Given the description of an element on the screen output the (x, y) to click on. 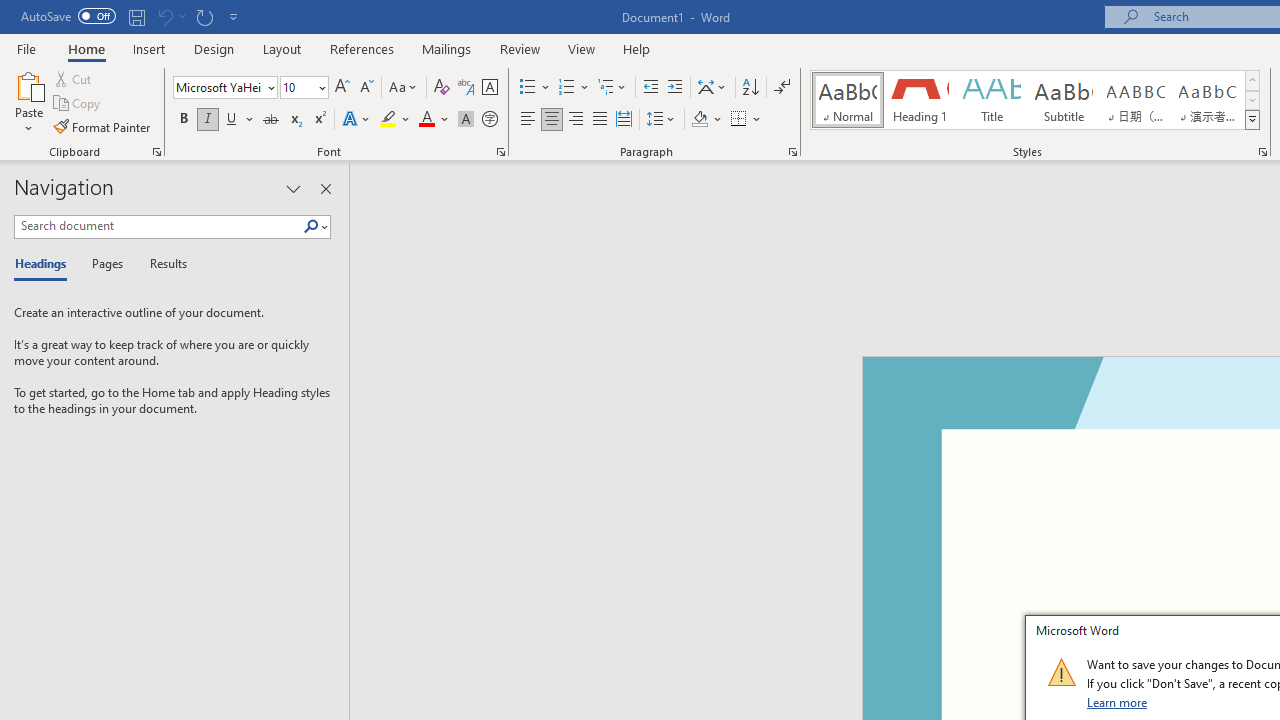
Multilevel List (613, 87)
Clear Formatting (442, 87)
Shading RGB(0, 0, 0) (699, 119)
Sort... (750, 87)
Font Color Red (426, 119)
Text Effects and Typography (357, 119)
Headings (45, 264)
Character Border (489, 87)
